Given the description of an element on the screen output the (x, y) to click on. 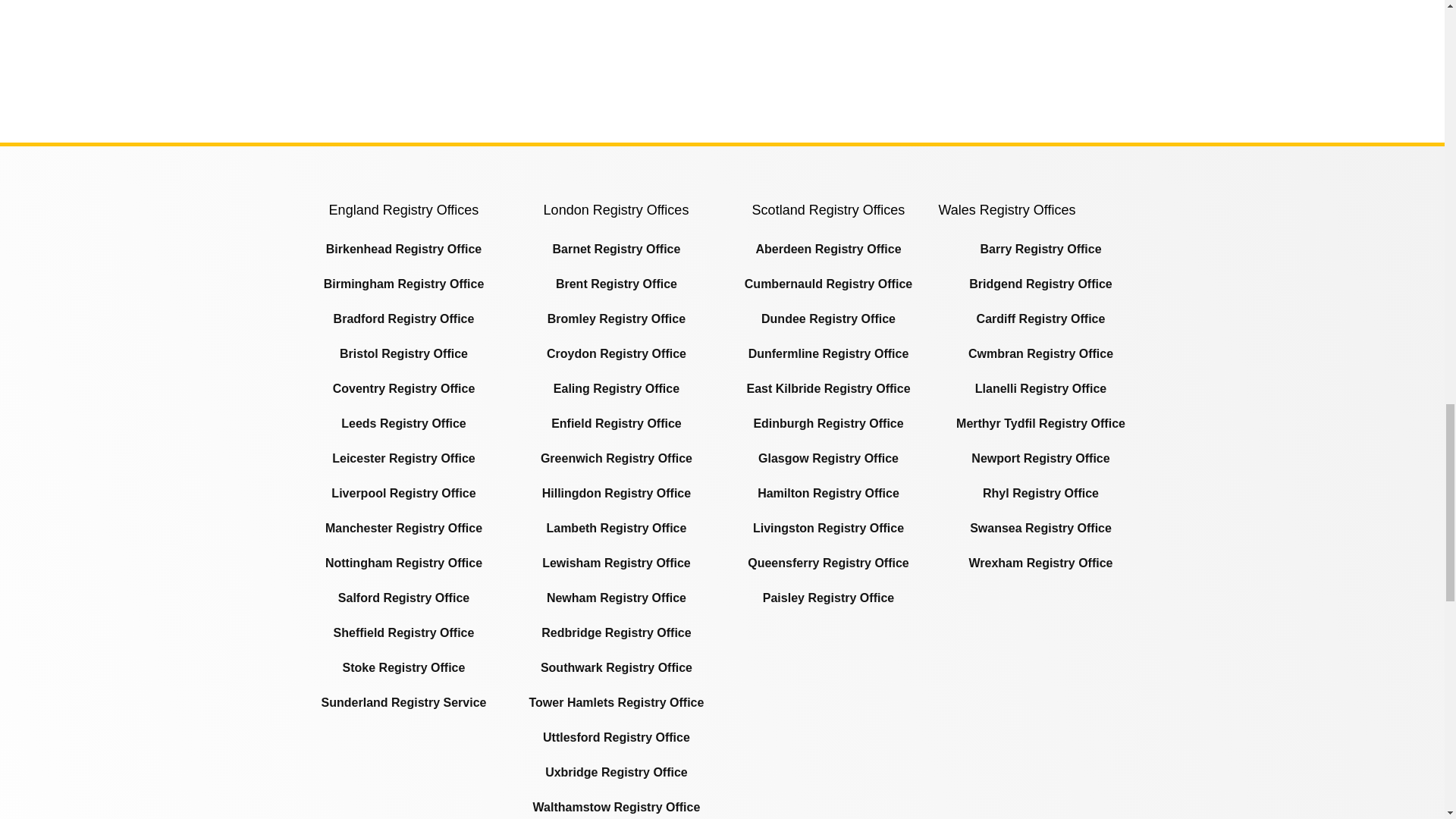
Advertisement (721, 67)
Advertisement (403, 780)
